Given the description of an element on the screen output the (x, y) to click on. 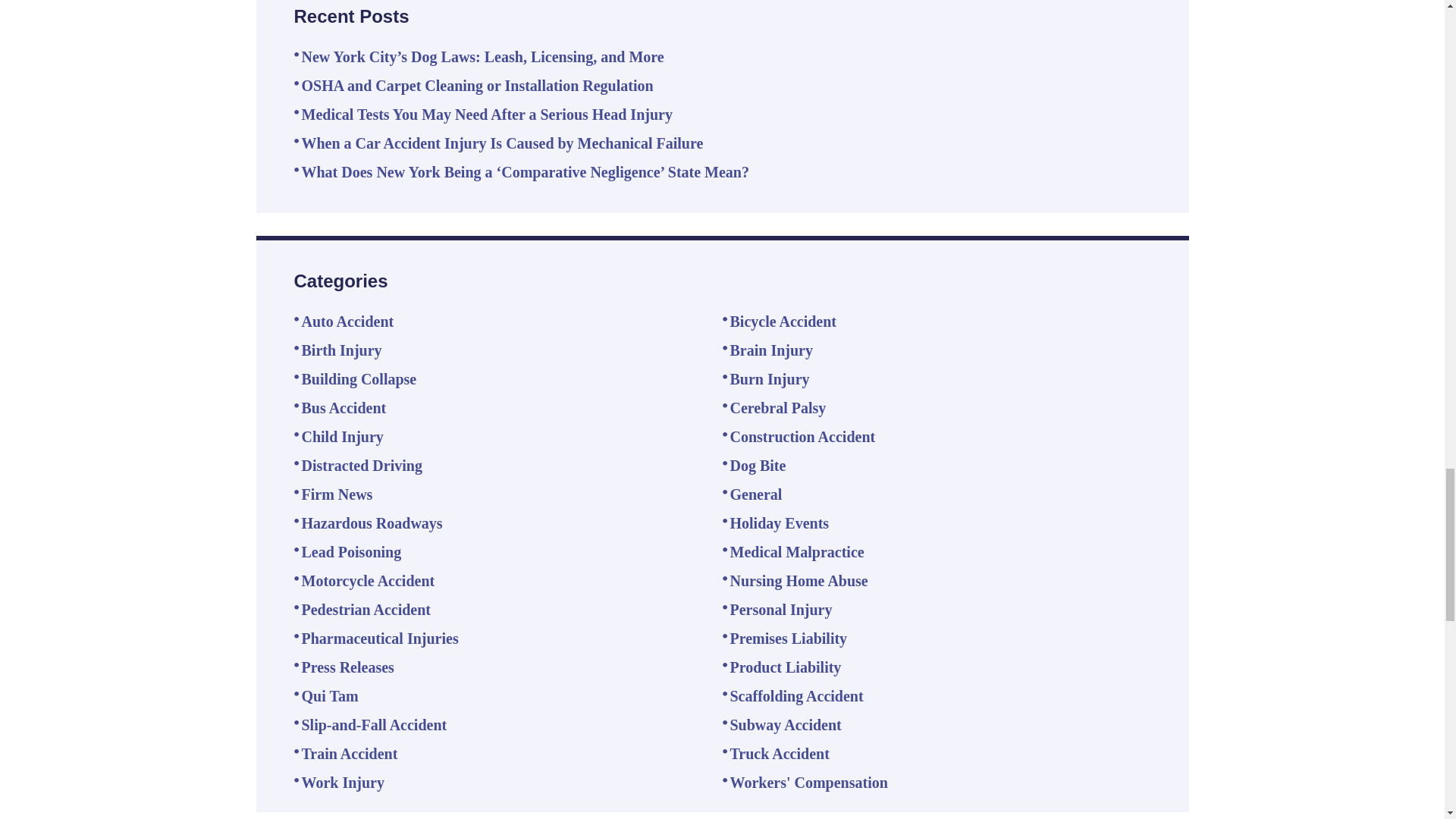
Building Collapse (358, 379)
Burn Injury (769, 379)
Medical Tests You May Need After a Serious Head Injury (486, 114)
Bicycle Accident (782, 321)
Birth Injury (341, 350)
When a Car Accident Injury Is Caused by Mechanical Failure (502, 143)
OSHA and Carpet Cleaning or Installation Regulation (477, 85)
Brain Injury (770, 350)
Auto Accident (347, 321)
